Given the description of an element on the screen output the (x, y) to click on. 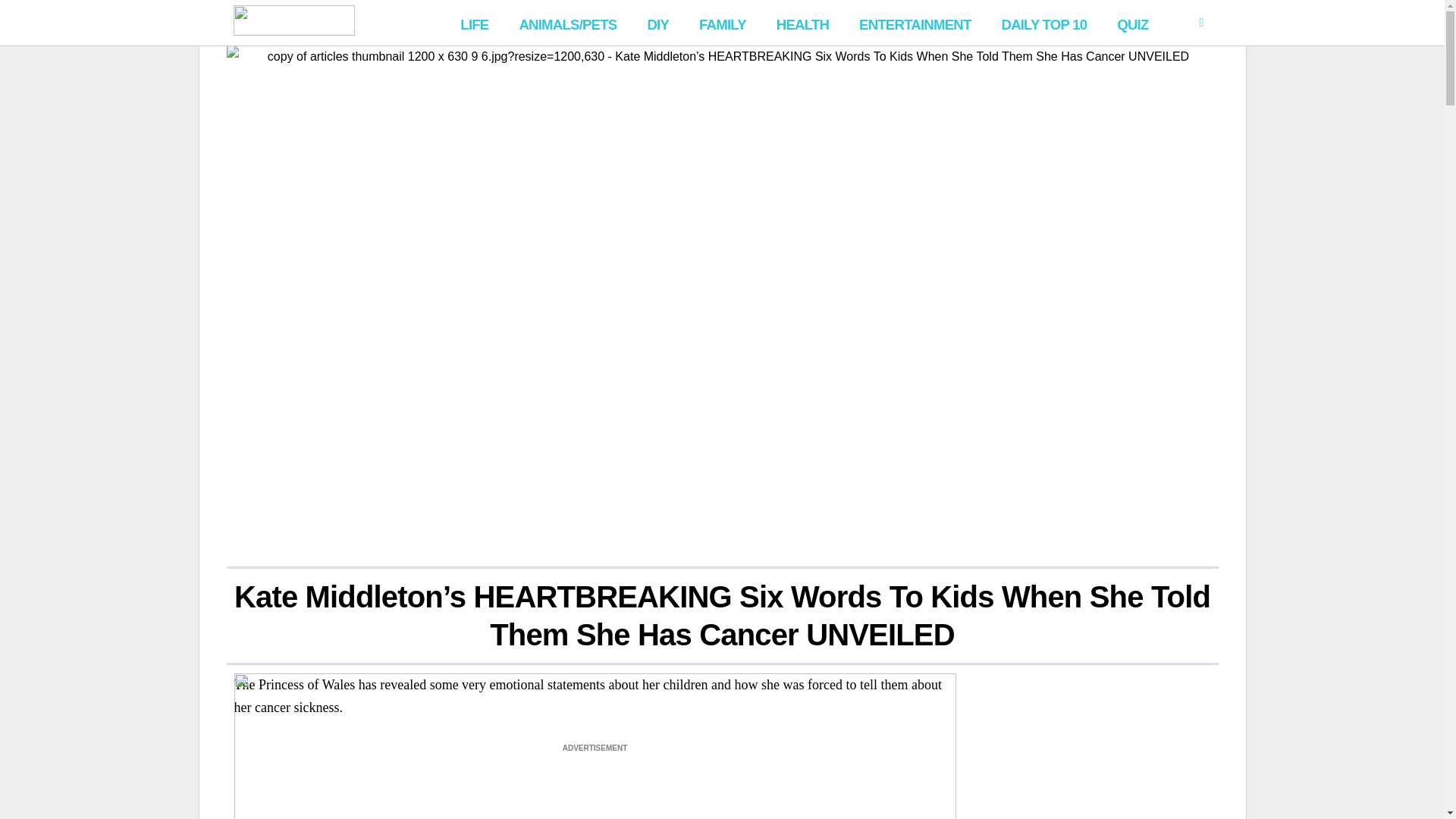
LIFE (474, 22)
QUIZ (1132, 22)
DAILY TOP 10 (1043, 22)
FAMILY (722, 22)
HEALTH (801, 22)
ENTERTAINMENT (914, 22)
